Given the description of an element on the screen output the (x, y) to click on. 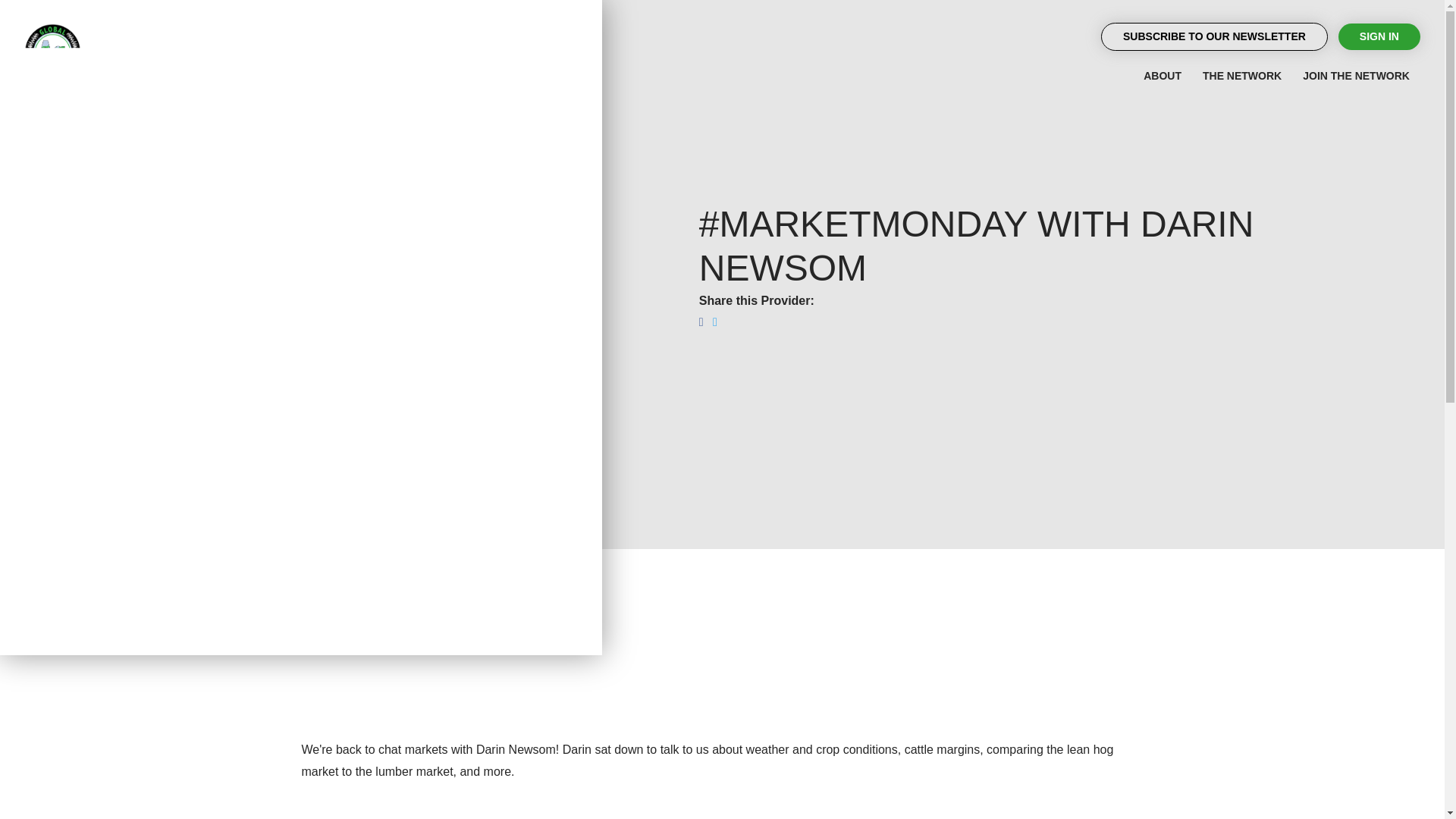
SIGN IN (1379, 36)
THE NETWORK (1242, 75)
JOIN THE NETWORK (1356, 75)
SUBSCRIBE TO OUR NEWSLETTER (1213, 36)
ABOUT (1162, 75)
